Given the description of an element on the screen output the (x, y) to click on. 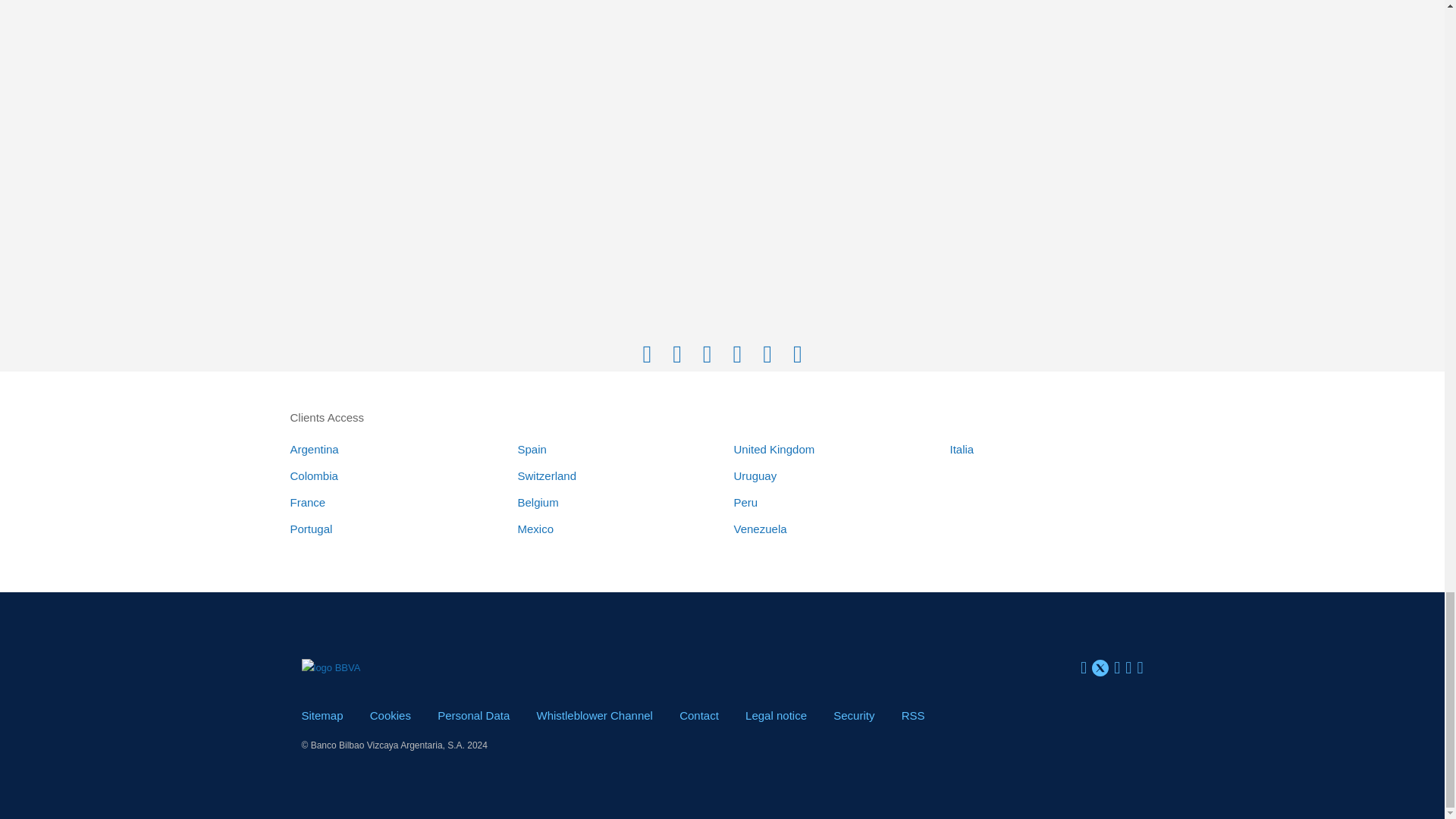
Next (737, 354)
modal (775, 715)
Advance 10 (767, 354)
Last (797, 354)
Back 10 (677, 354)
First (646, 354)
Previous (707, 354)
